Given the description of an element on the screen output the (x, y) to click on. 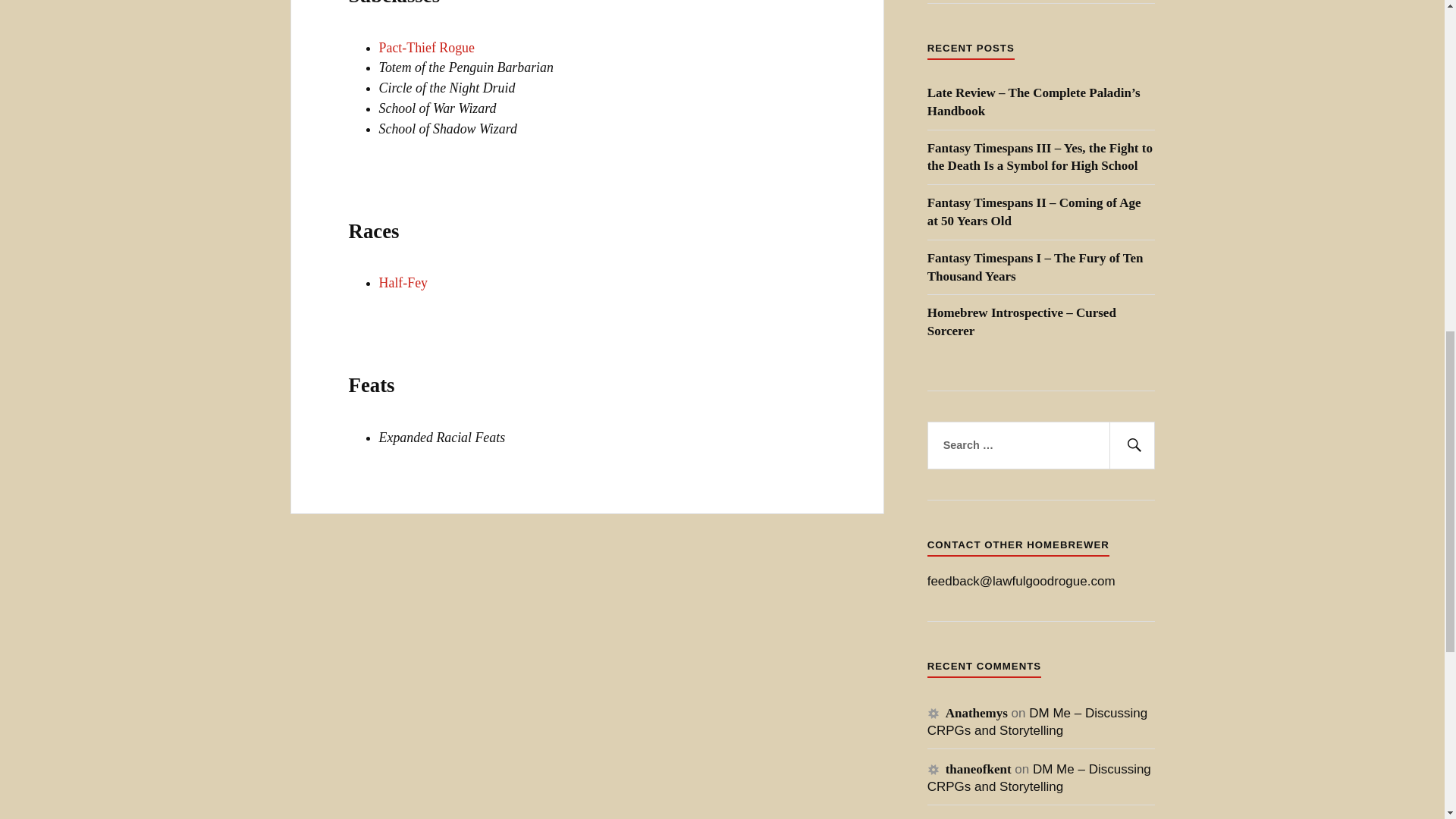
Search for: (1040, 445)
Anathemys (975, 712)
Pact-Thief Rogue (426, 47)
Half-Fey (403, 282)
Search (1131, 445)
